Given the description of an element on the screen output the (x, y) to click on. 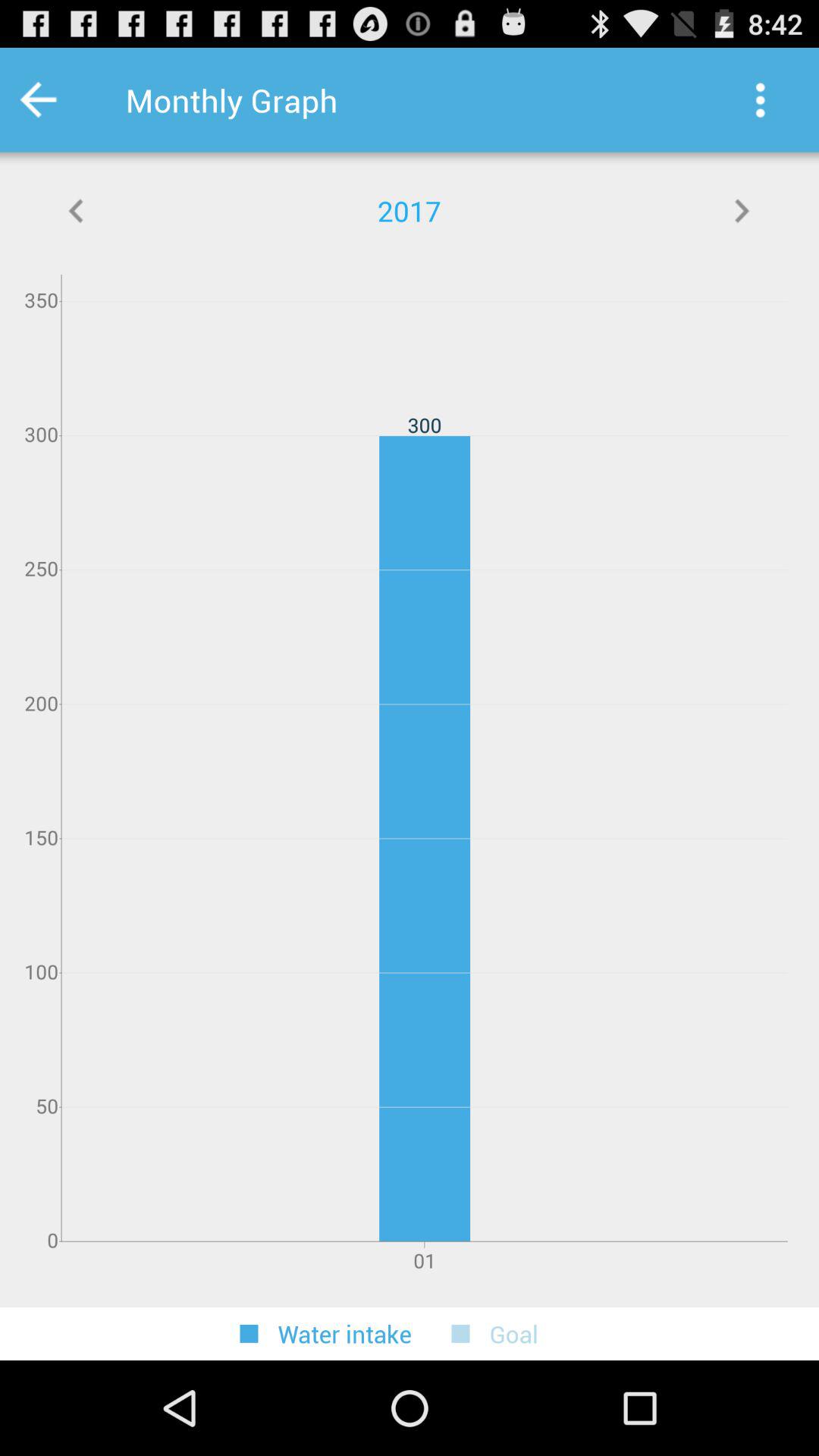
choose item next to monthly graph app (58, 100)
